Given the description of an element on the screen output the (x, y) to click on. 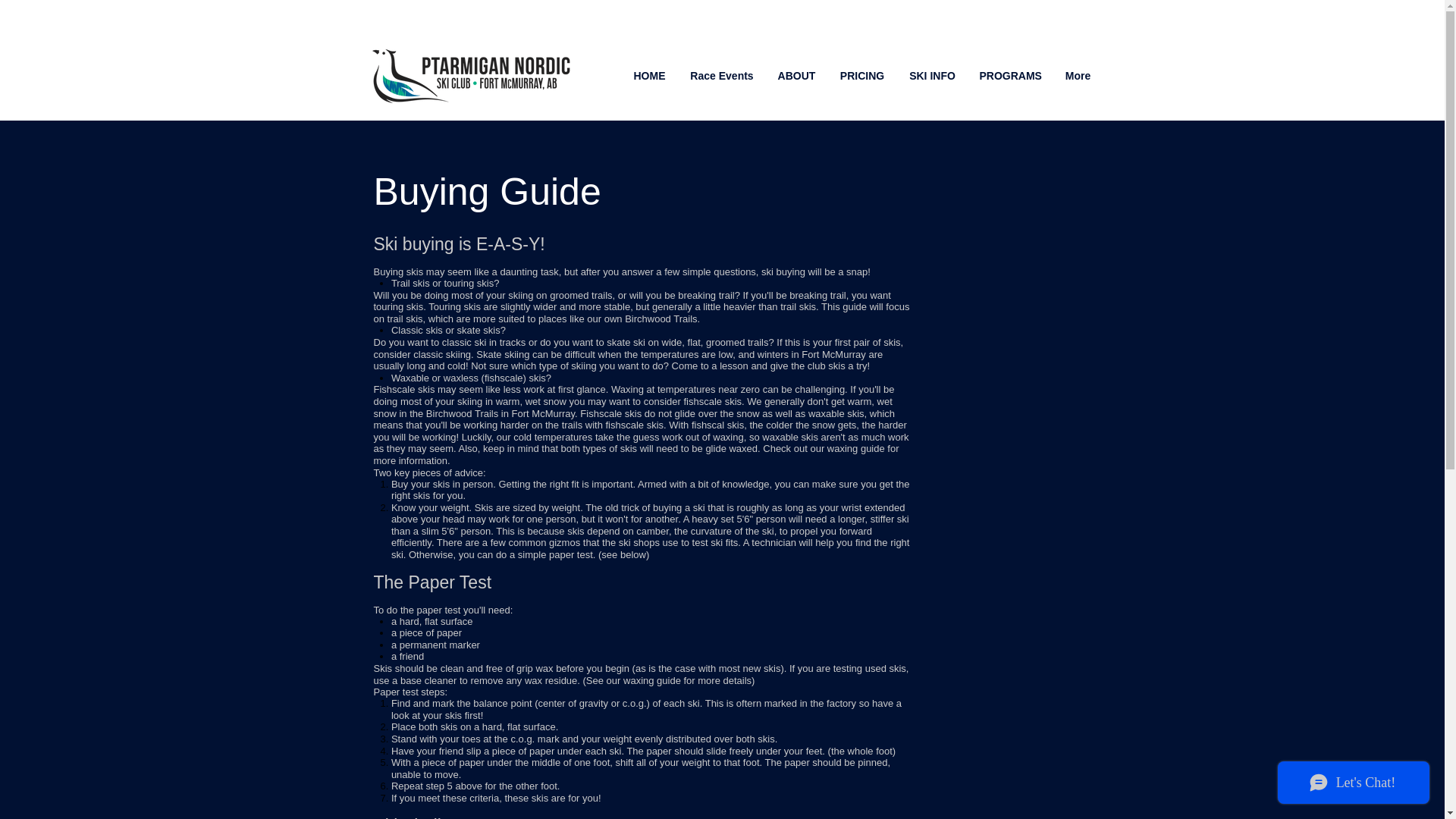
PRICING (862, 76)
HOME (649, 76)
Race Events (721, 76)
PROGRAMS (1009, 76)
SKI INFO (932, 76)
ABOUT (796, 76)
